Given the description of an element on the screen output the (x, y) to click on. 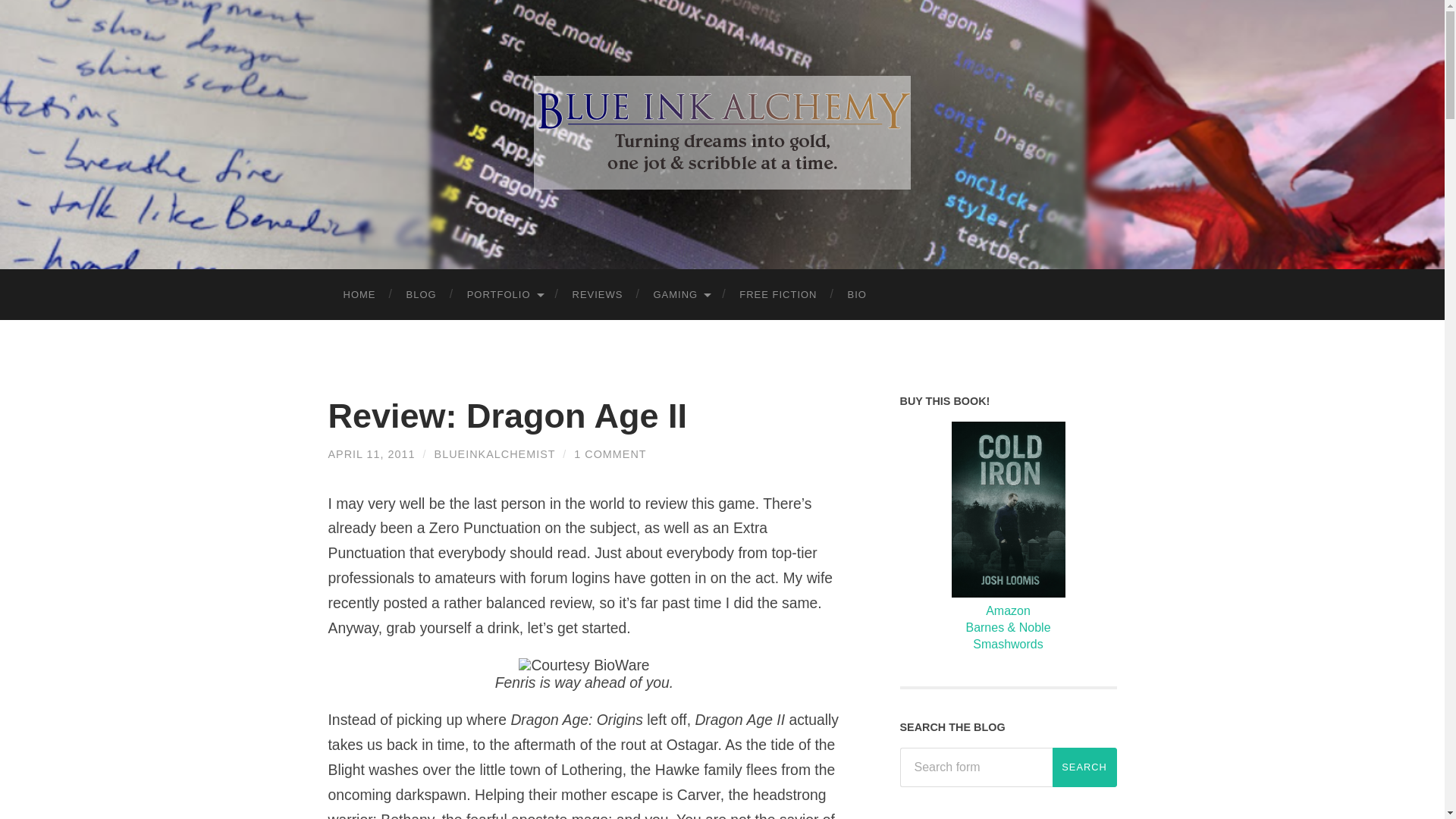
BLUEINKALCHEMIST (494, 453)
BIO (857, 294)
GAMING (680, 294)
APRIL 11, 2011 (370, 453)
Posts by BlueInkAlchemist (494, 453)
Review: Dragon Age II (370, 453)
Review: Dragon Age II (506, 415)
Review: Dragon Age II (506, 415)
HOME (358, 294)
1 COMMENT (609, 453)
